Given the description of an element on the screen output the (x, y) to click on. 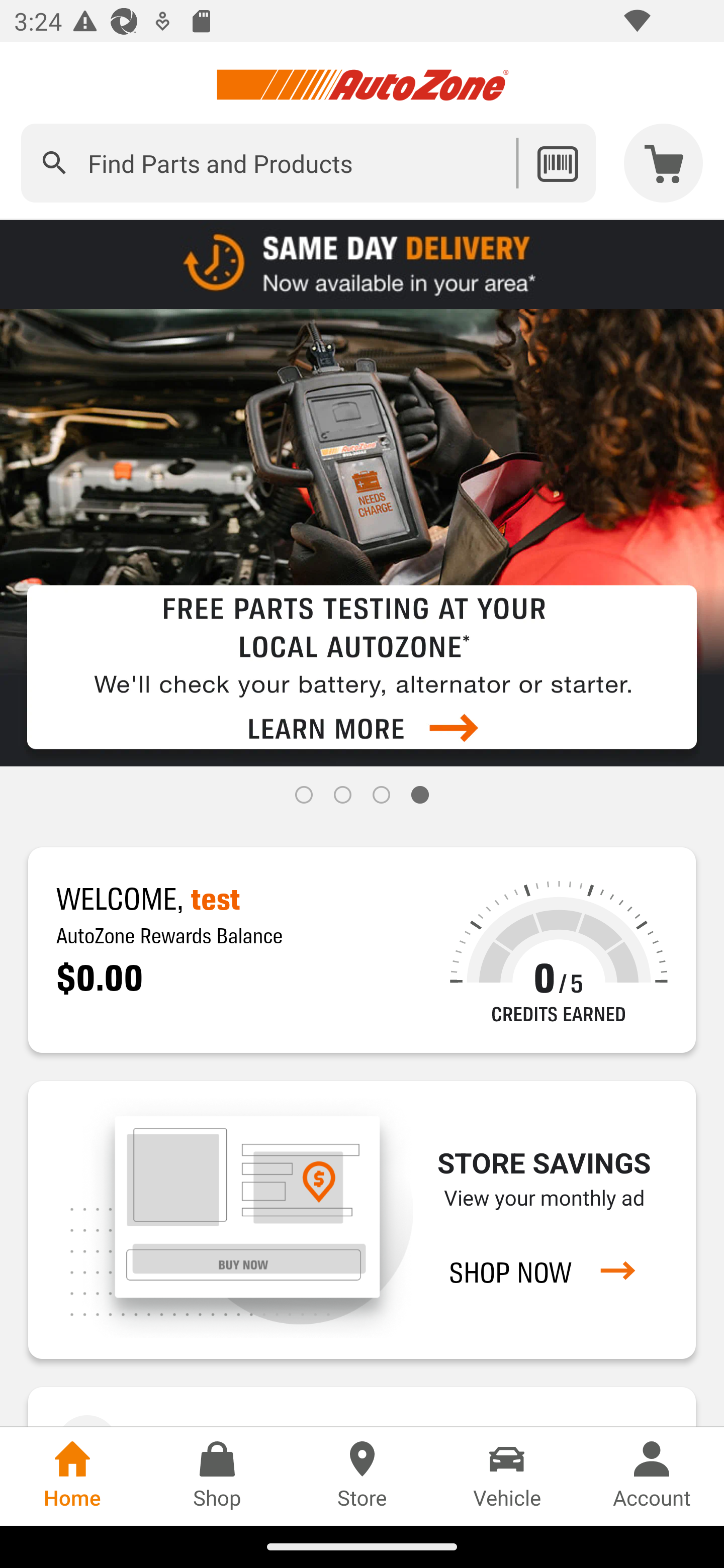
 scan-product-to-search  (557, 162)
 (54, 163)
Cart, no items  (663, 162)
Same Day Delivery - now available in your area* (362, 262)
Home (72, 1475)
Shop (216, 1475)
Store (361, 1475)
Vehicle (506, 1475)
Account (651, 1475)
